Given the description of an element on the screen output the (x, y) to click on. 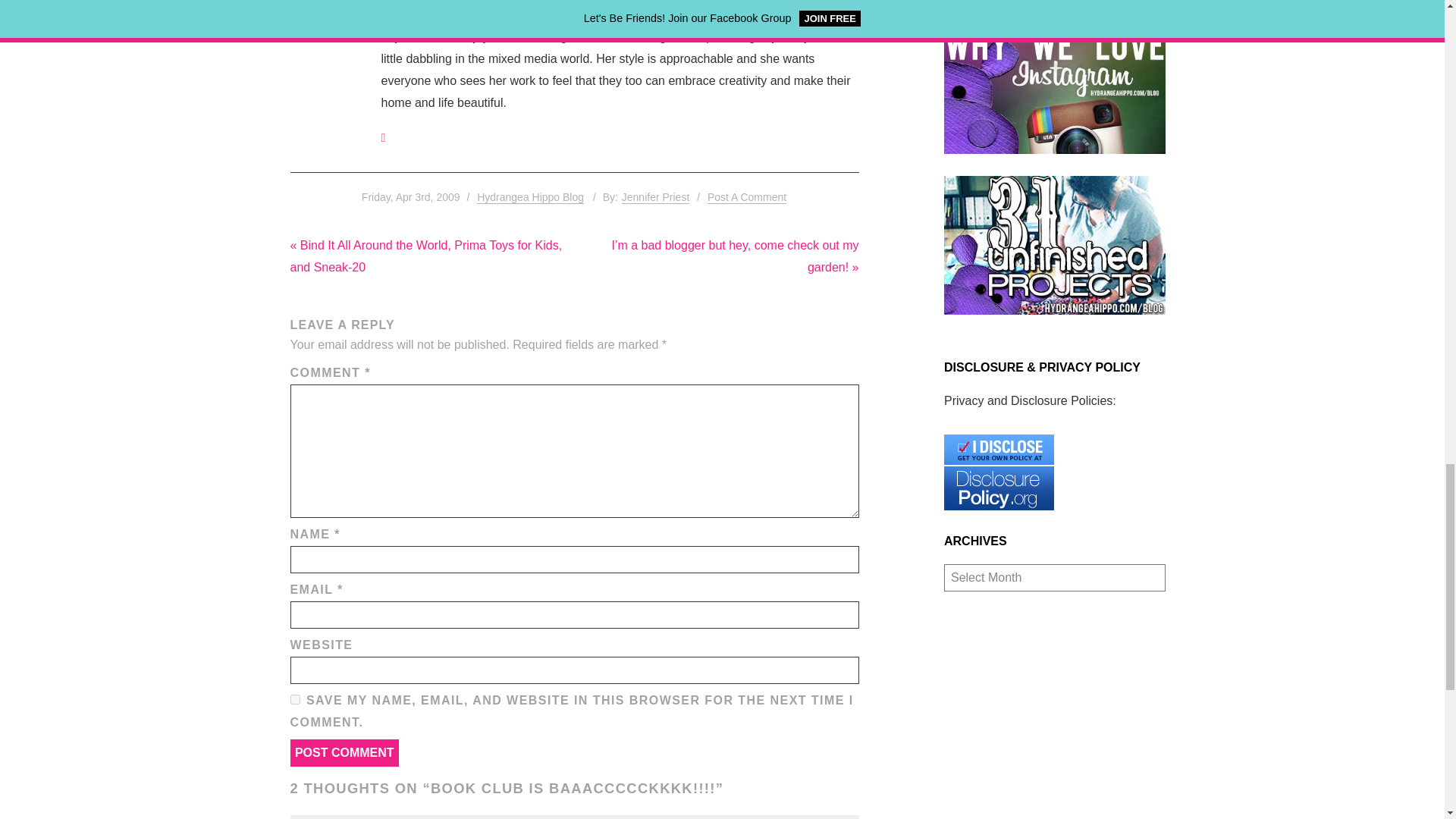
Posts by Jennifer Priest (654, 196)
Jennifer Priest (654, 196)
yes (294, 699)
Post Comment (343, 752)
Post A Comment (746, 196)
Post Comment (343, 752)
Hydrangea Hippo Blog (530, 196)
